Given the description of an element on the screen output the (x, y) to click on. 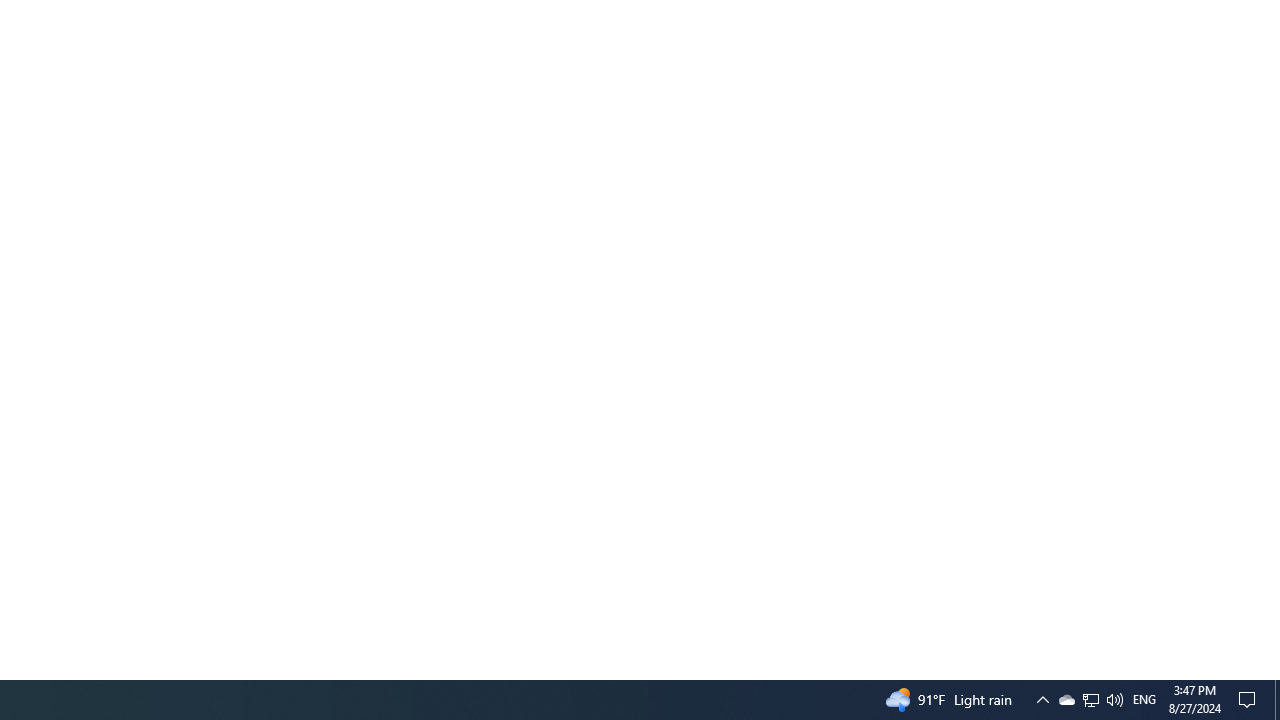
Tray Input Indicator - English (United States) (1144, 699)
